Given the description of an element on the screen output the (x, y) to click on. 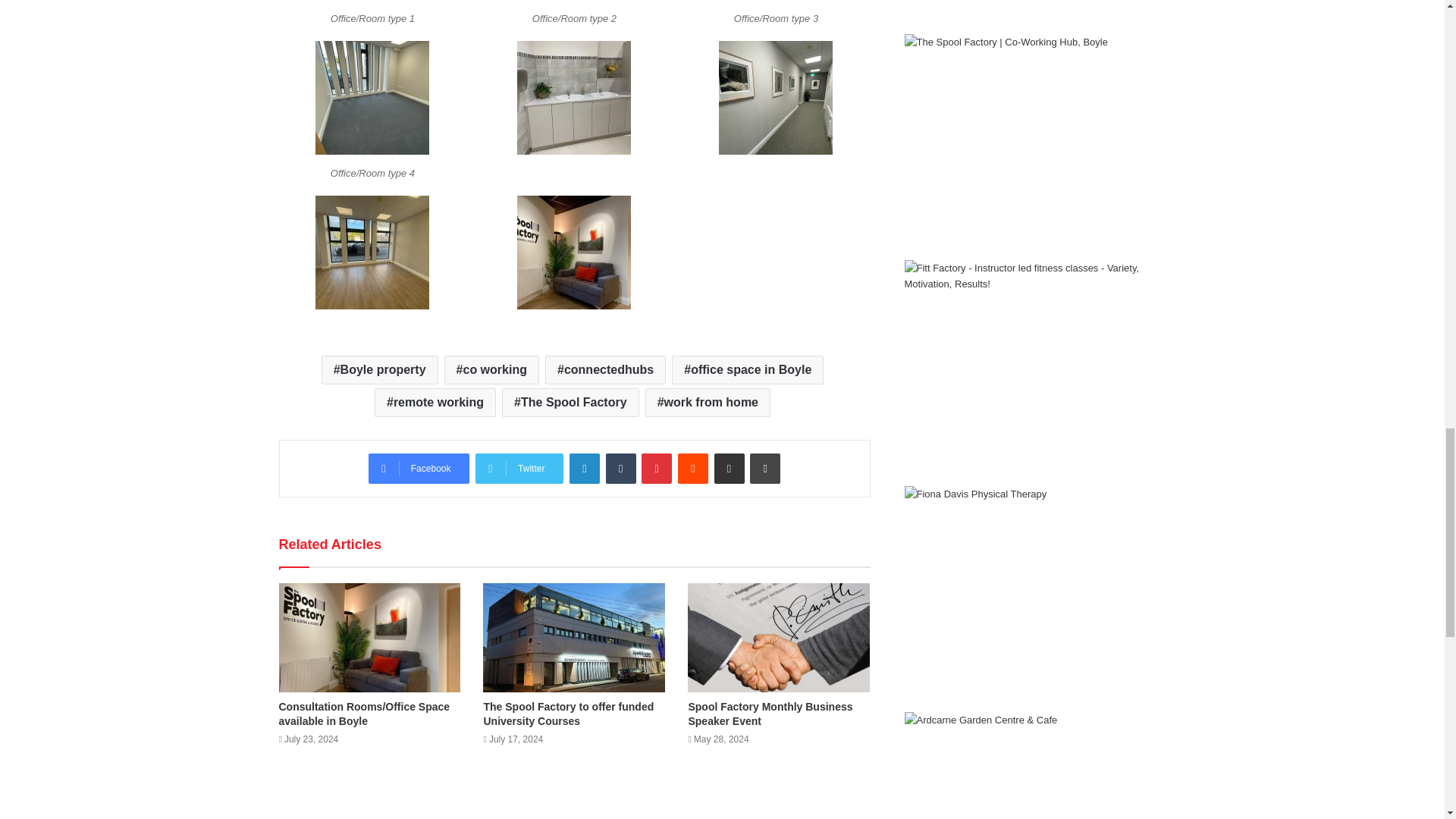
connectedhubs (604, 369)
remote working (435, 402)
Facebook (419, 468)
Twitter (519, 468)
Facebook (419, 468)
The Spool Factory (570, 402)
Reddit (692, 468)
LinkedIn (584, 468)
Tumblr (620, 468)
office space in Boyle (747, 369)
